Given the description of an element on the screen output the (x, y) to click on. 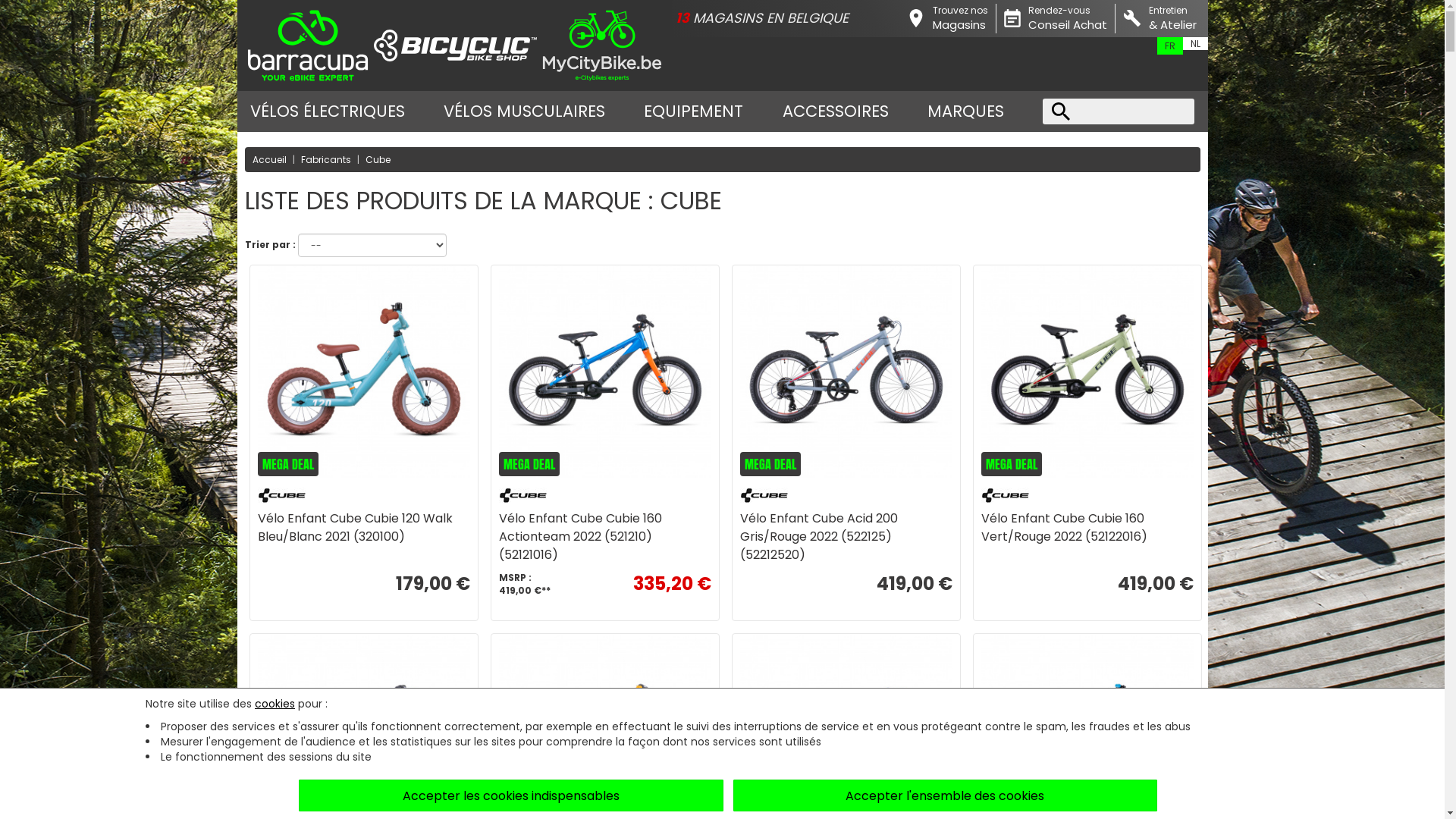
Cube Element type: hover (604, 494)
cookies Element type: text (274, 703)
Rendez-vous
Conseil Achat Element type: text (1055, 18)
MEGA DEAL Element type: text (363, 375)
EQUIPEMENT Element type: text (693, 111)
rechercher Element type: hover (1118, 111)
NL Element type: text (1195, 43)
ACCESSOIRES Element type: text (835, 111)
Cube Element type: hover (846, 494)
  Element type: text (1118, 111)
MEGA DEAL Element type: text (1087, 375)
MEGA DEAL Element type: text (846, 375)
Accepter l'ensemble des cookies Element type: text (945, 795)
MARQUES Element type: text (965, 111)
Accueil Element type: text (268, 159)
Cube Element type: hover (1087, 494)
Fabricants Element type: text (325, 159)
Accepter les cookies indispensables Element type: text (511, 795)
Cube Element type: hover (363, 494)
MEGA DEAL Element type: text (604, 375)
13 MAGASINS EN BELGIQUE Element type: text (786, 18)
Trouvez nos
Magasins Element type: text (947, 18)
Cube Element type: text (377, 159)
Entretien
& Atelier Element type: text (1158, 18)
